Given the description of an element on the screen output the (x, y) to click on. 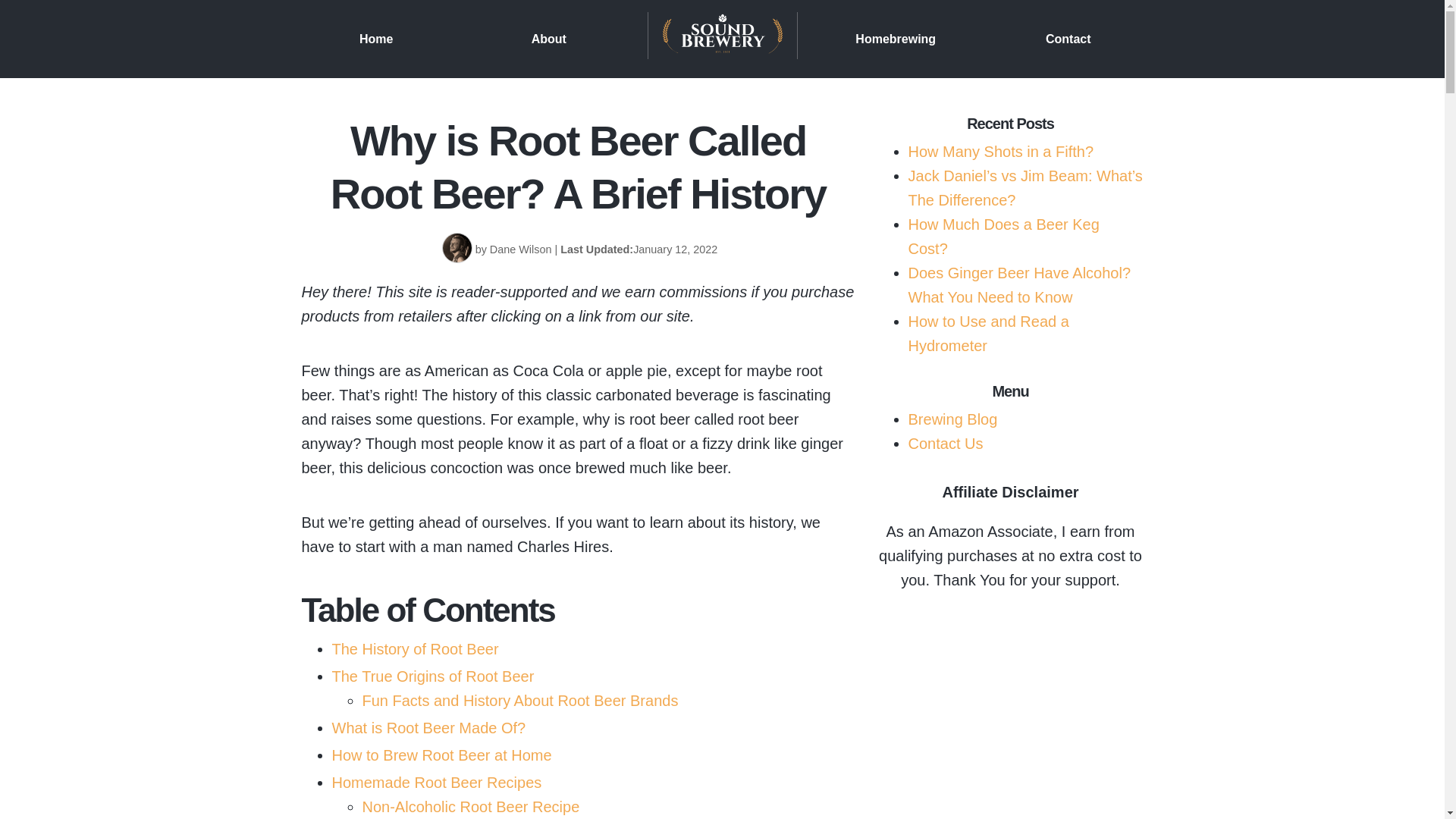
Home (376, 38)
Non-Alcoholic Root Beer Recipe (470, 806)
About (548, 38)
How Many Shots in a Fifth? (1001, 151)
How Much Does a Beer Keg Cost? (1003, 236)
The True Origins of Root Beer (432, 676)
Homebrewing (896, 38)
The History of Root Beer (415, 648)
How to Brew Root Beer at Home (441, 754)
Does Ginger Beer Have Alcohol? What You Need to Know (1019, 284)
Contact Us (946, 443)
Contact (1067, 38)
Logo (721, 39)
How to Use and Read a Hydrometer (988, 332)
Brewing Blog (952, 419)
